Given the description of an element on the screen output the (x, y) to click on. 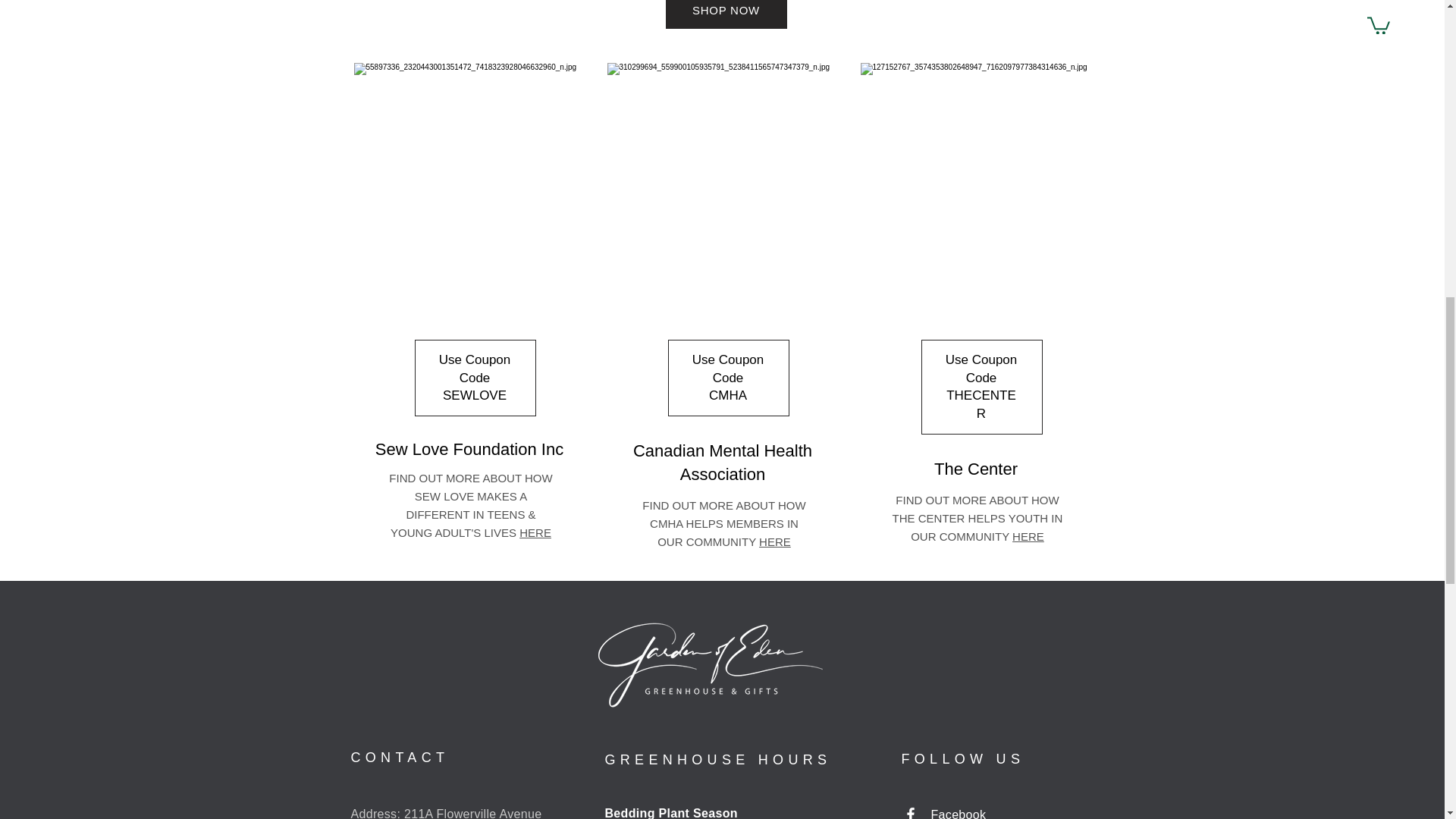
Bedding Plant Season (671, 812)
HERE (774, 541)
HERE (535, 532)
SHOP NOW (726, 14)
HERE (1027, 535)
